Given the description of an element on the screen output the (x, y) to click on. 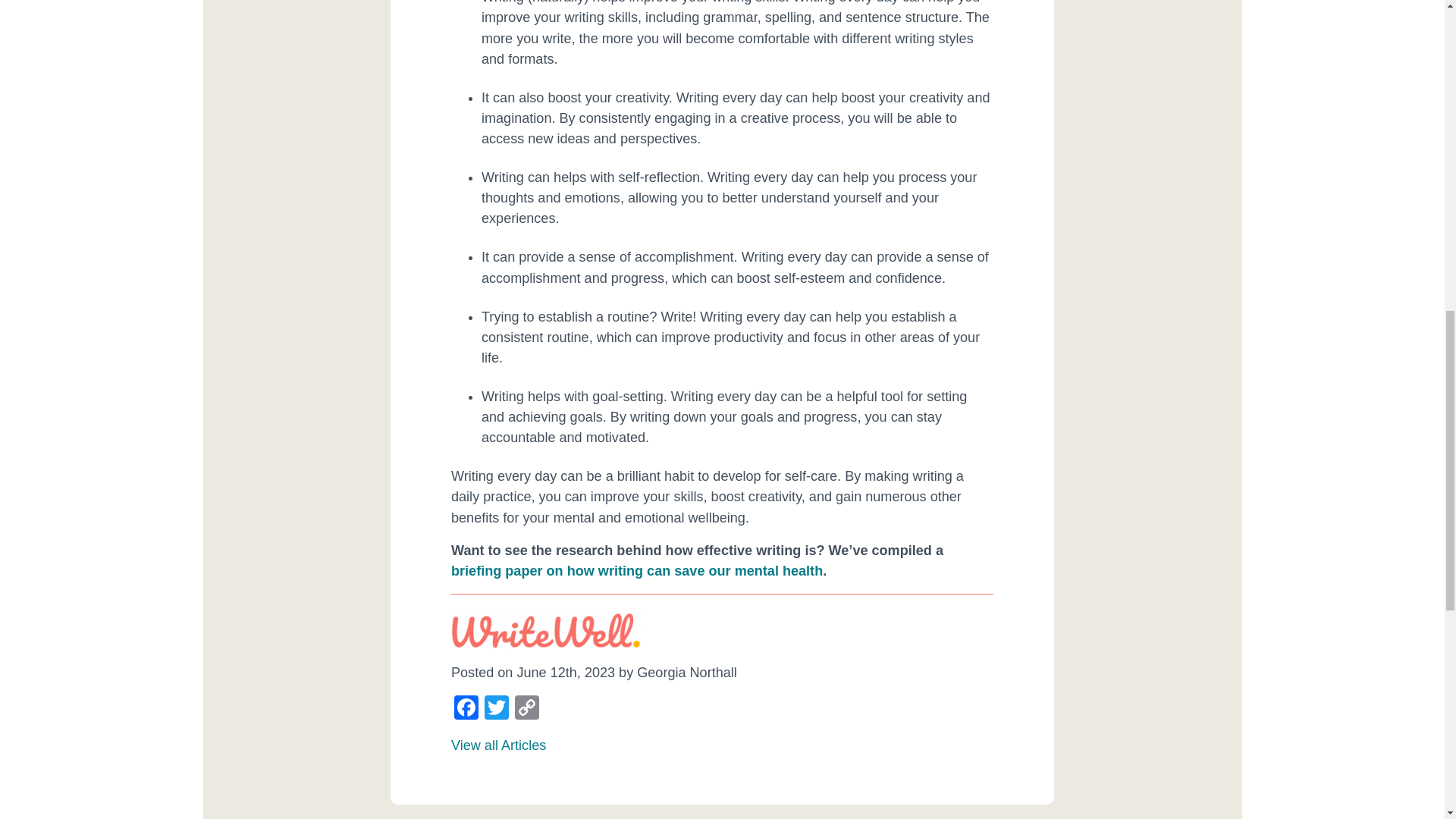
Copy Link (526, 709)
Facebook (466, 709)
Facebook (466, 709)
View all Articles (498, 744)
Copy Link (526, 709)
briefing paper on how writing can save our mental health (636, 570)
Twitter (496, 709)
Twitter (496, 709)
